Given the description of an element on the screen output the (x, y) to click on. 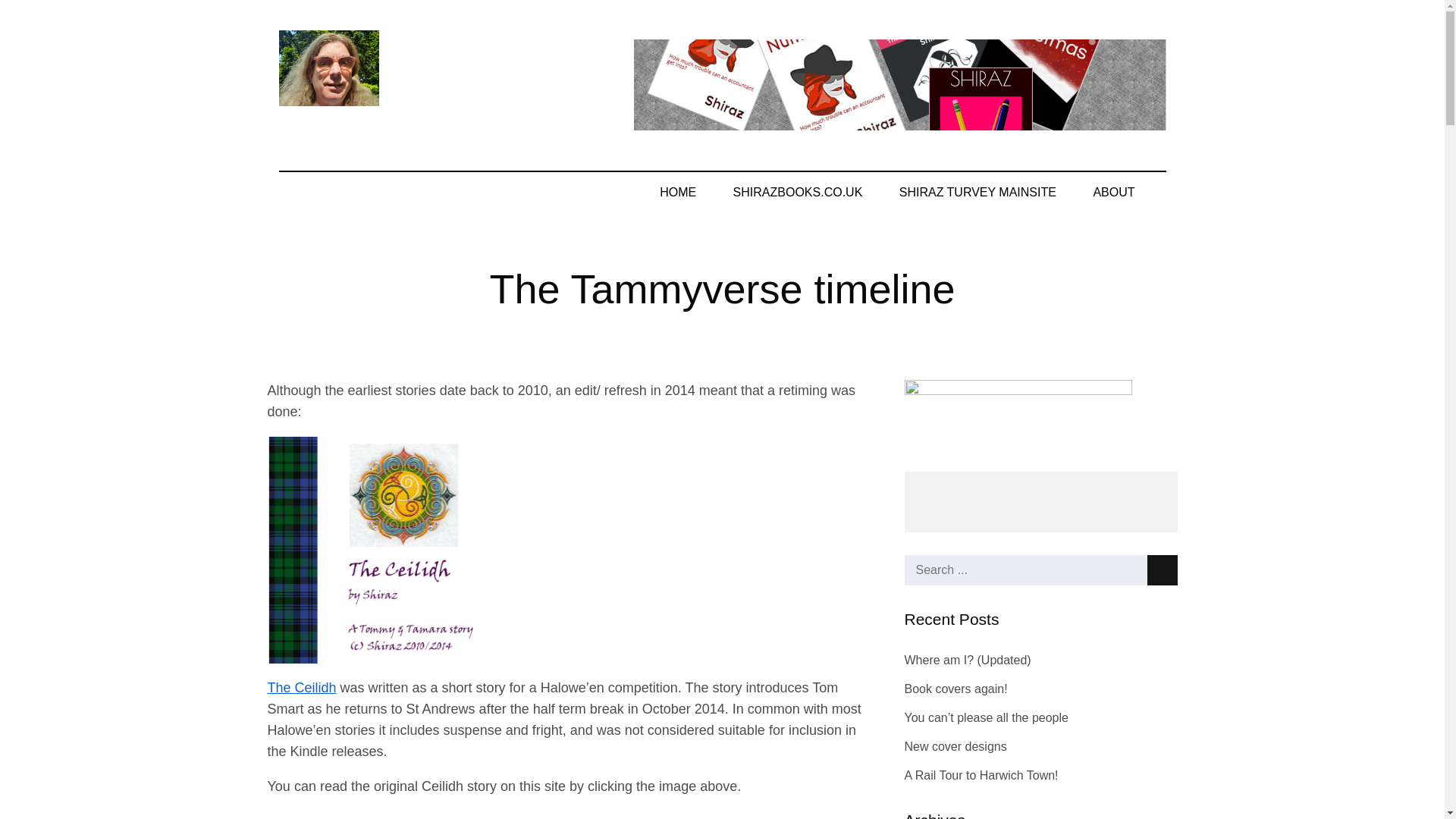
SHIRAZBOOKS.CO.UK (797, 191)
The Ceilidh (301, 687)
Book covers again! (955, 688)
SHIRAZ TURVEY MAINSITE (977, 191)
ABOUT (1120, 191)
A Rail Tour to Harwich Town! (981, 775)
Shiraz Turvey's Blog (502, 82)
New cover designs (955, 746)
Search (1161, 570)
Search for: (1040, 570)
